Given the description of an element on the screen output the (x, y) to click on. 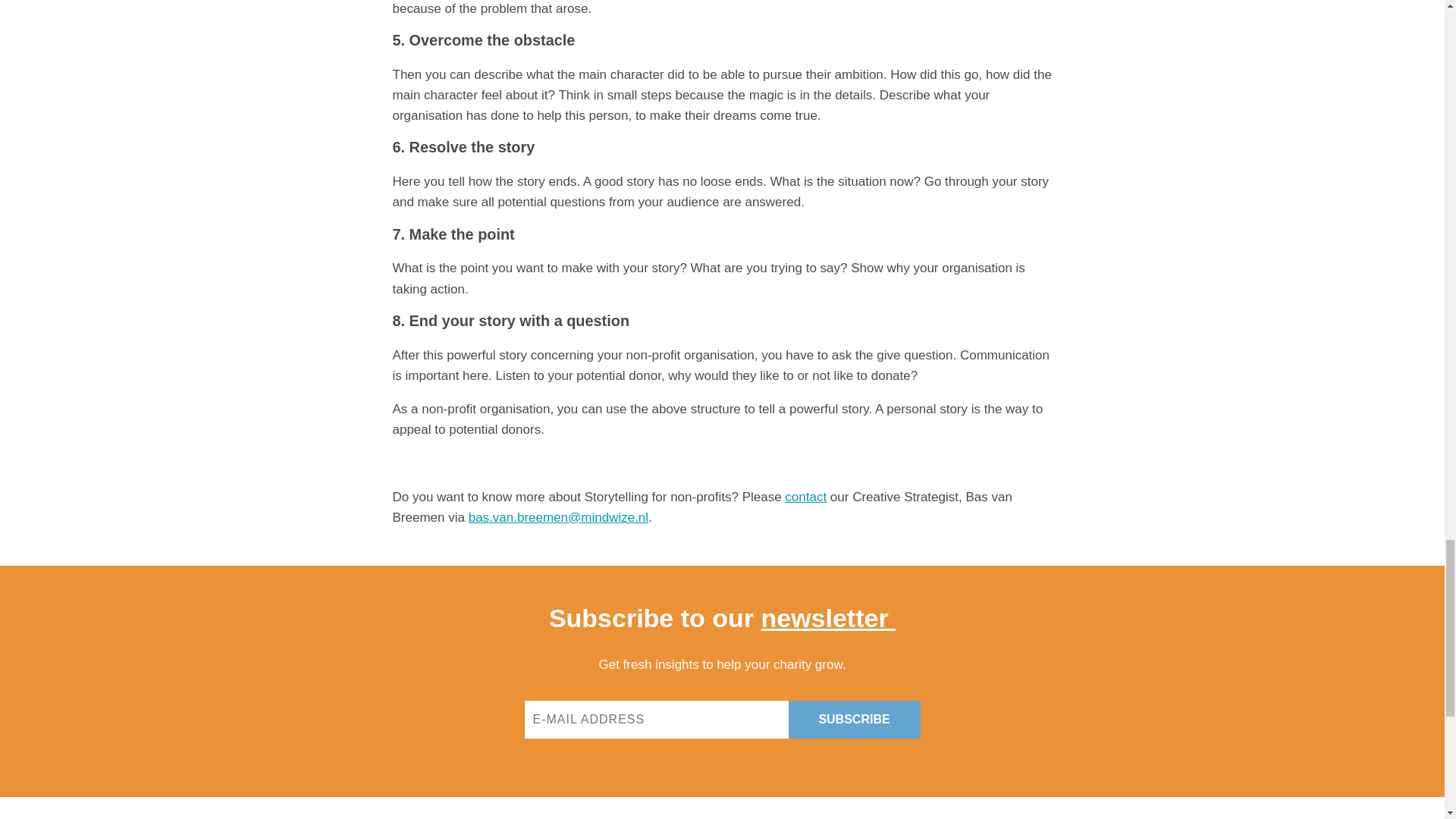
SUBSCRIBE (854, 719)
newsletter  (827, 617)
contact (805, 496)
